Given the description of an element on the screen output the (x, y) to click on. 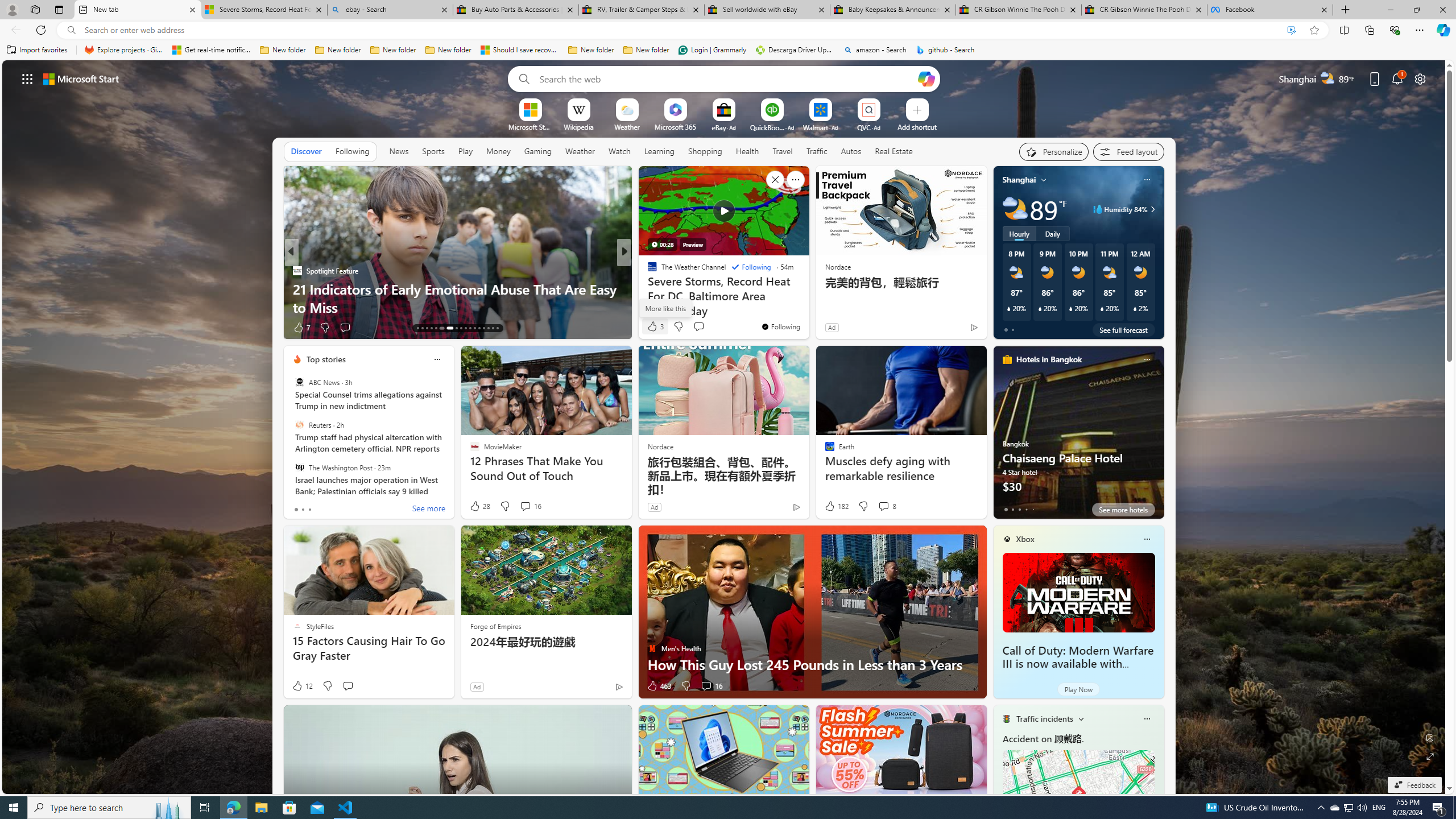
Class: weather-arrow-glyph (1152, 208)
Athletes That Died Far Too Young (807, 307)
Las Vegas Strip visitors face outrageous new fee (807, 307)
Hourly (1018, 233)
Partly cloudy (1014, 208)
More Options (886, 101)
AutomationID: tab-25 (478, 328)
AutomationID: tab-23 (470, 328)
